Given the description of an element on the screen output the (x, y) to click on. 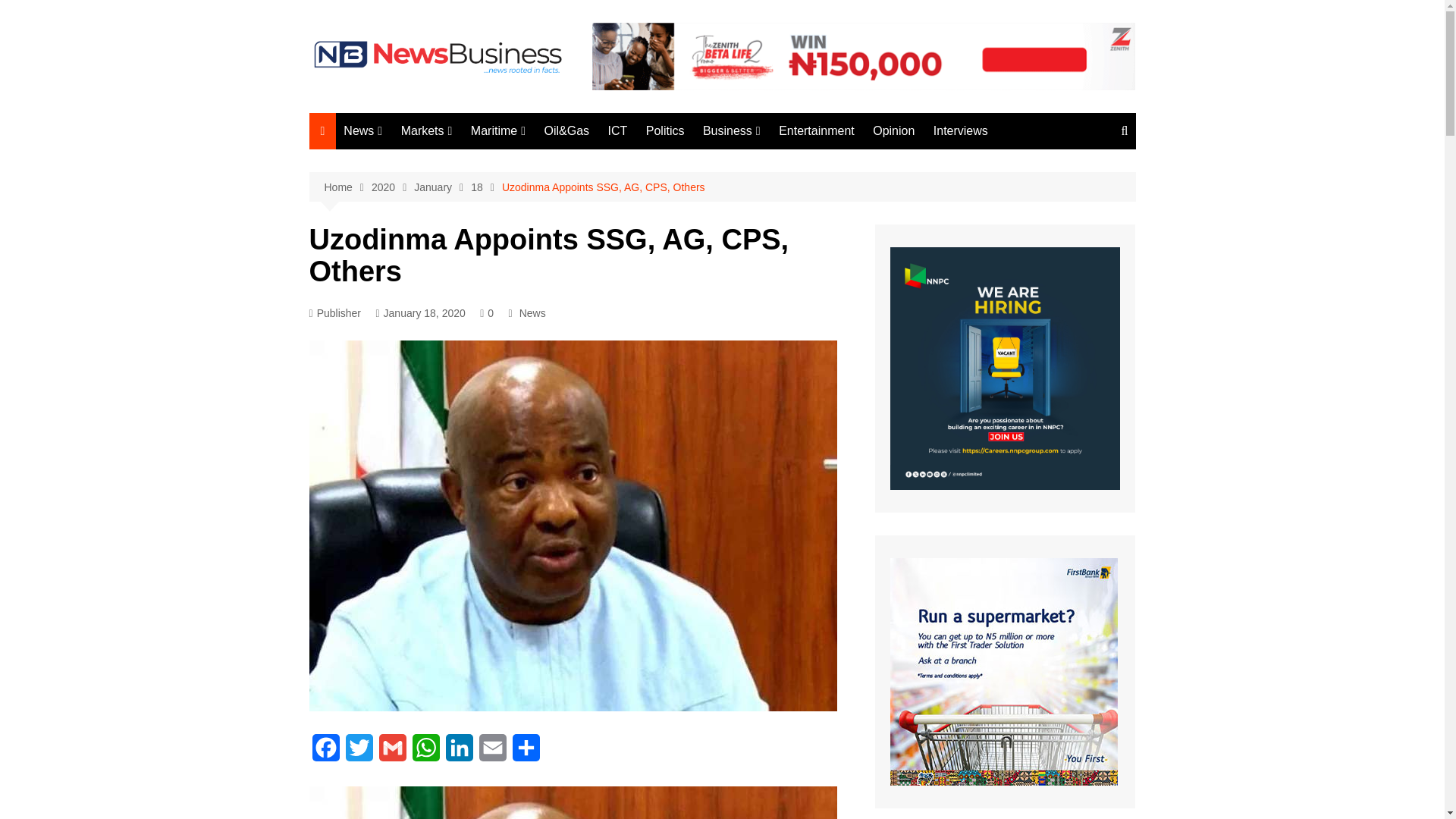
Brands (778, 162)
Facebook (325, 752)
News (363, 131)
LinkedIn (459, 752)
SMEs (945, 213)
Energy (778, 187)
Markets (426, 131)
Money Market (476, 161)
Photonews (419, 286)
Twitter (358, 752)
Shipping (546, 186)
ICT (616, 131)
Email (492, 752)
Foreign News (419, 261)
Power (945, 187)
